Given the description of an element on the screen output the (x, y) to click on. 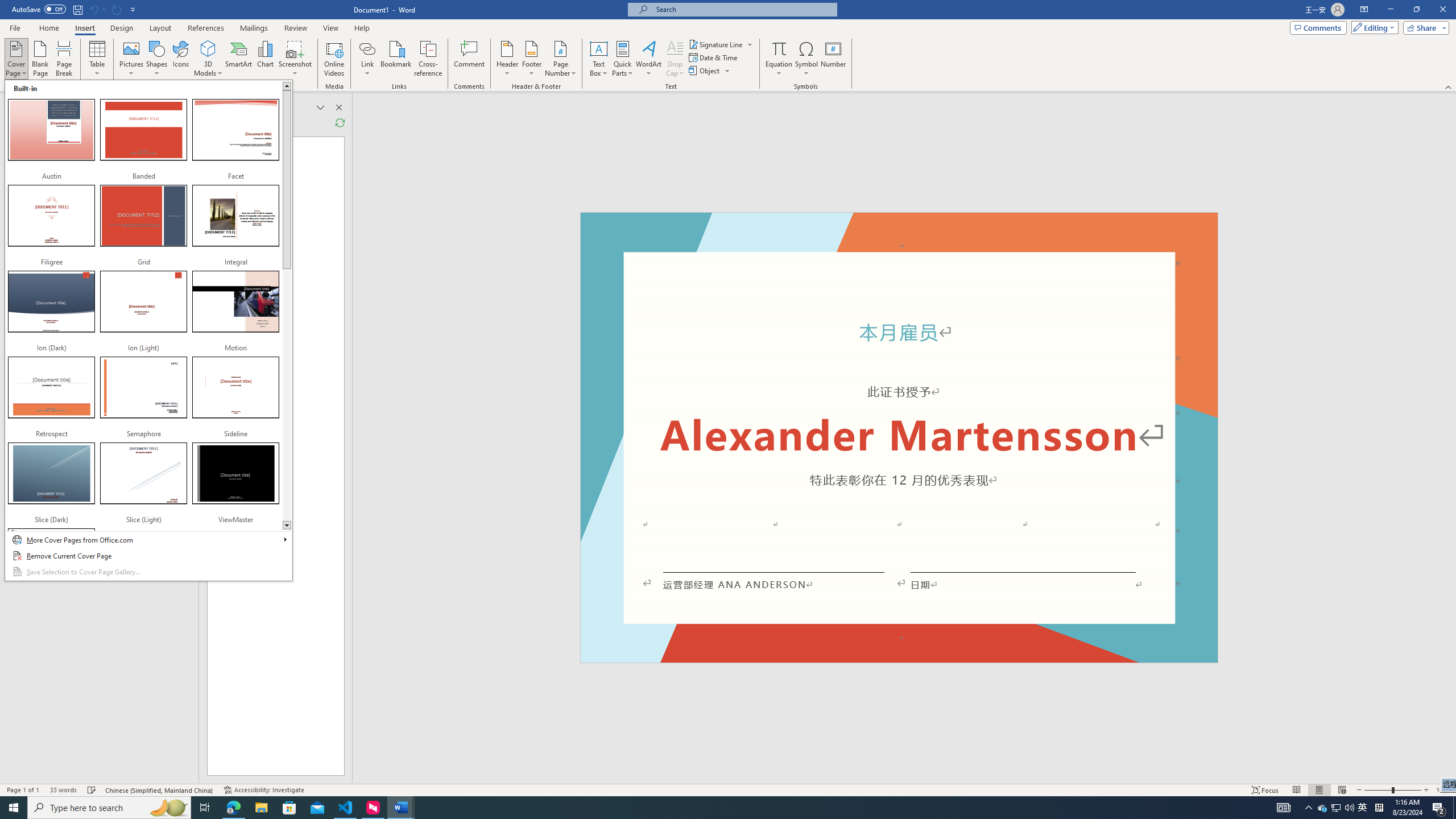
Date & Time... (714, 56)
Cover Page (148, 330)
Header -Section 1- (898, 225)
Signature Line (721, 44)
Accessibility Checker Accessibility: Investigate (263, 790)
Zoom 100% (1443, 790)
Language Chinese (Simplified, Mainland China) (159, 790)
Quick Parts (622, 58)
Cross-reference... (428, 58)
Word - 2 running windows (400, 807)
Header (507, 58)
Type here to search (108, 807)
